Given the description of an element on the screen output the (x, y) to click on. 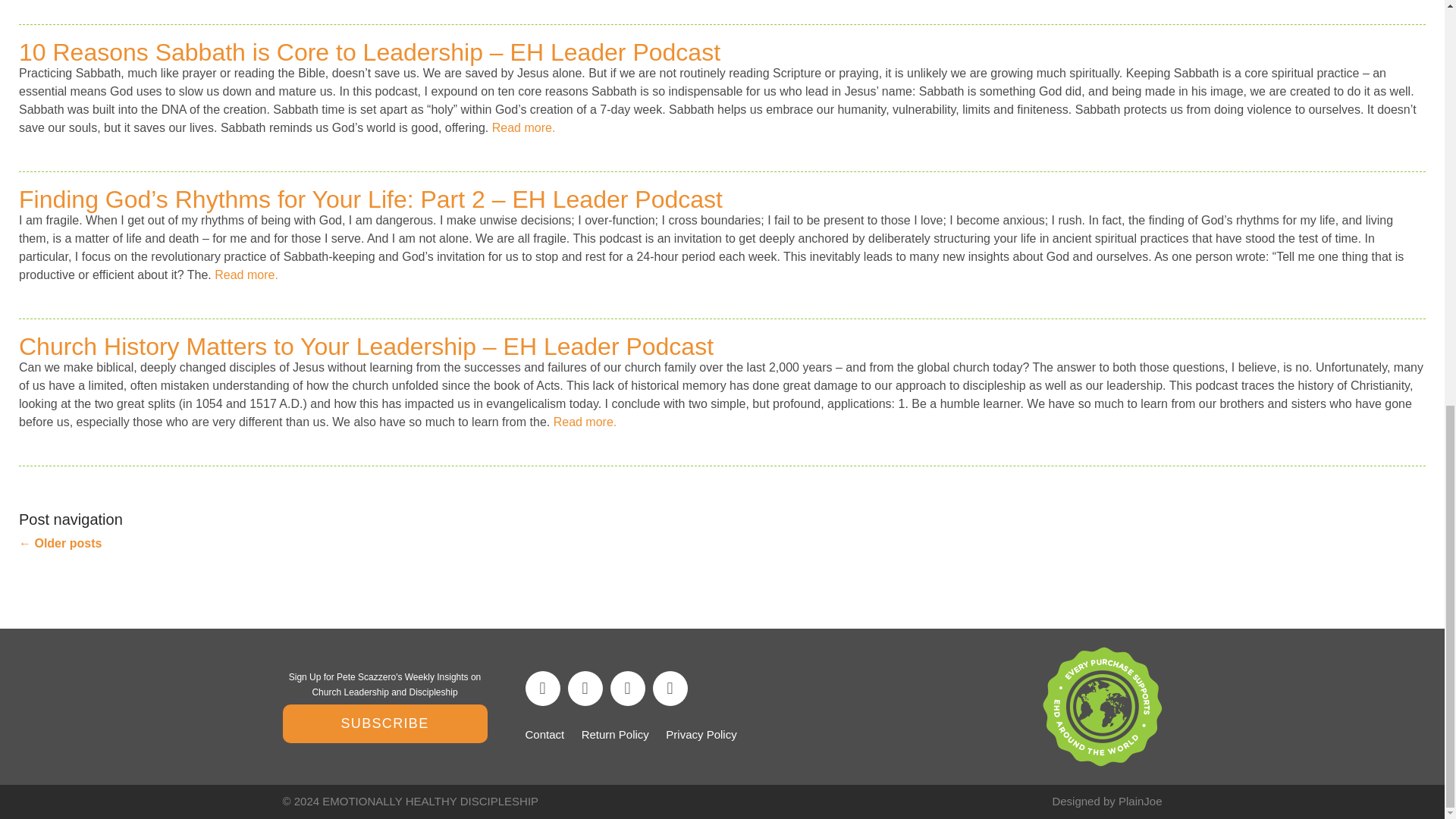
Designed by PlainJoe (1106, 800)
